Given the description of an element on the screen output the (x, y) to click on. 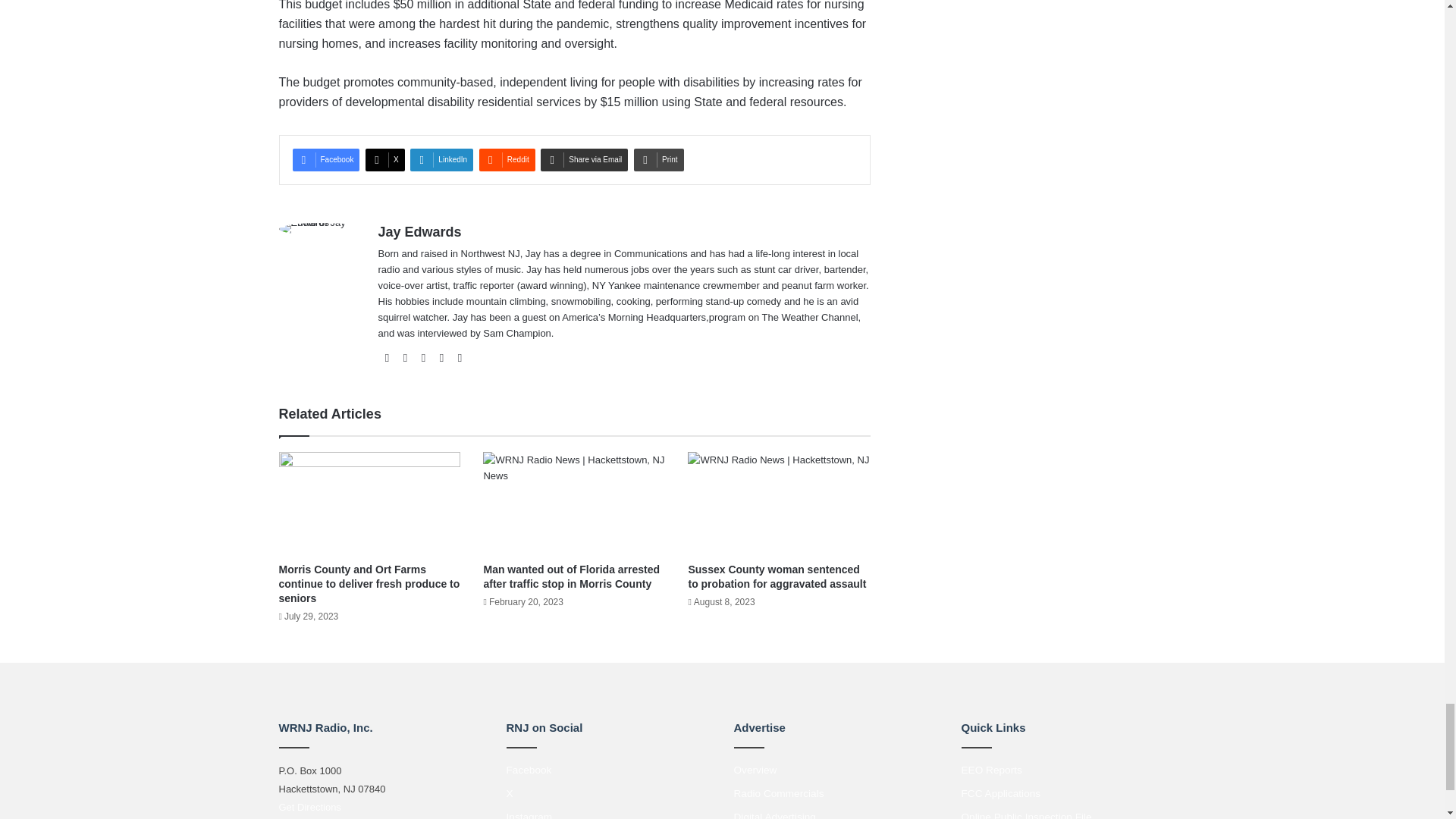
LinkedIn (441, 159)
X (384, 159)
Reddit (507, 159)
Facebook (325, 159)
Print (658, 159)
Share via Email (583, 159)
